Given the description of an element on the screen output the (x, y) to click on. 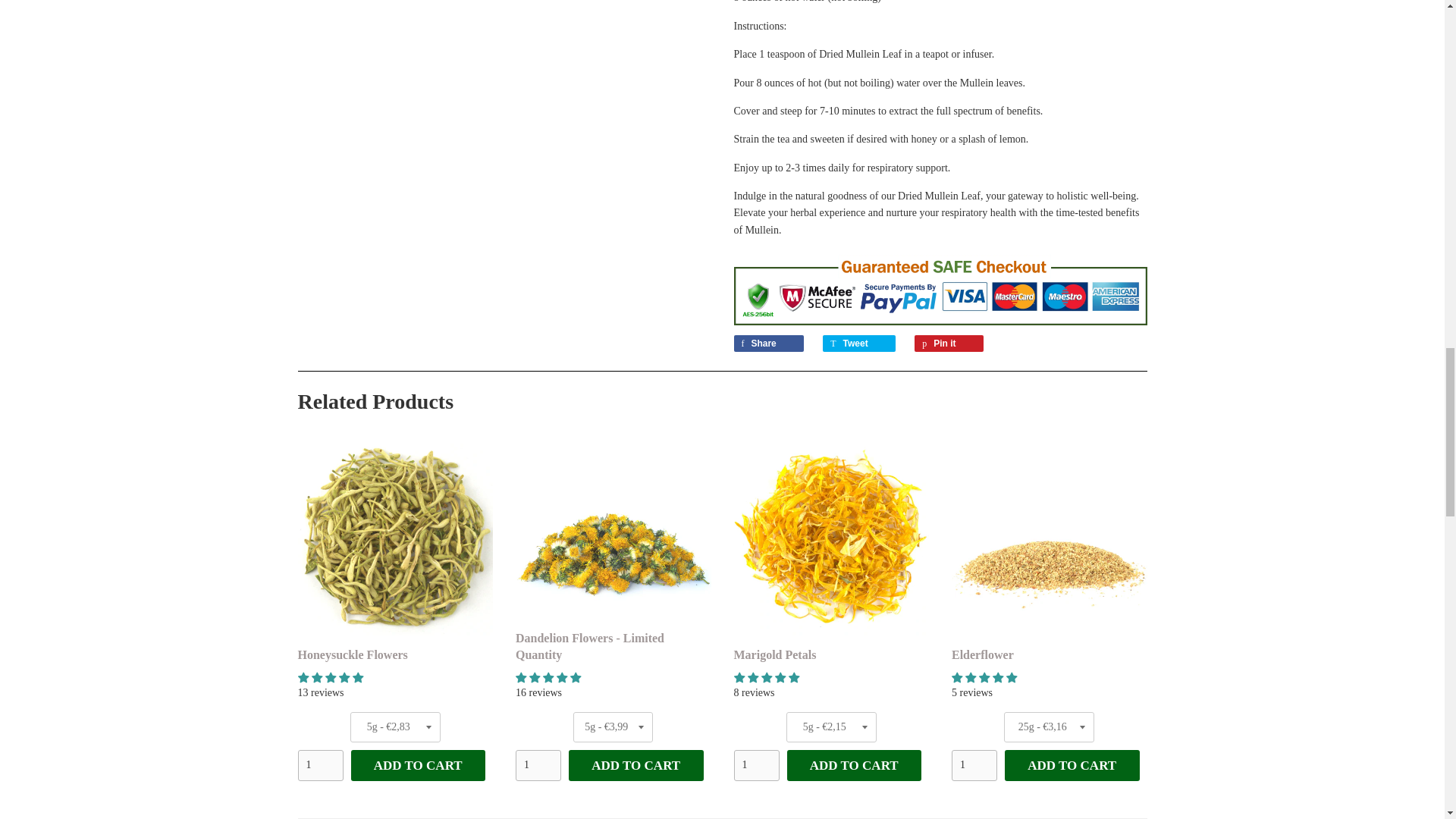
1 (319, 765)
1 (755, 765)
1 (974, 765)
1 (537, 765)
